Given the description of an element on the screen output the (x, y) to click on. 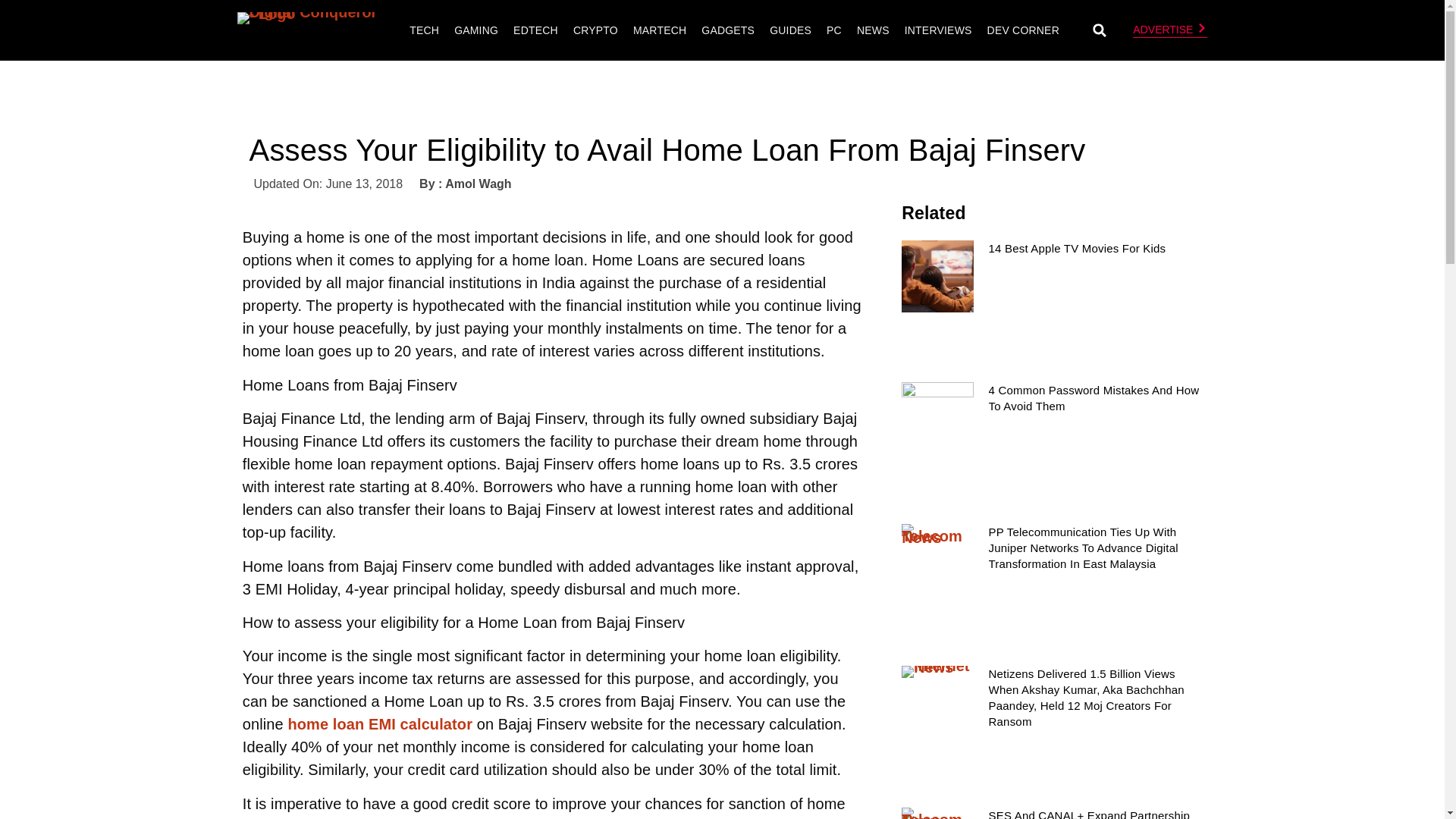
DEV CORNER (1022, 30)
NEWS (873, 30)
INTERVIEWS (938, 30)
MARTECH (659, 30)
GAMING (475, 30)
EDTECH (535, 30)
GADGETS (727, 30)
GUIDES (790, 30)
CRYPTO (595, 30)
TECH (424, 30)
